Given the description of an element on the screen output the (x, y) to click on. 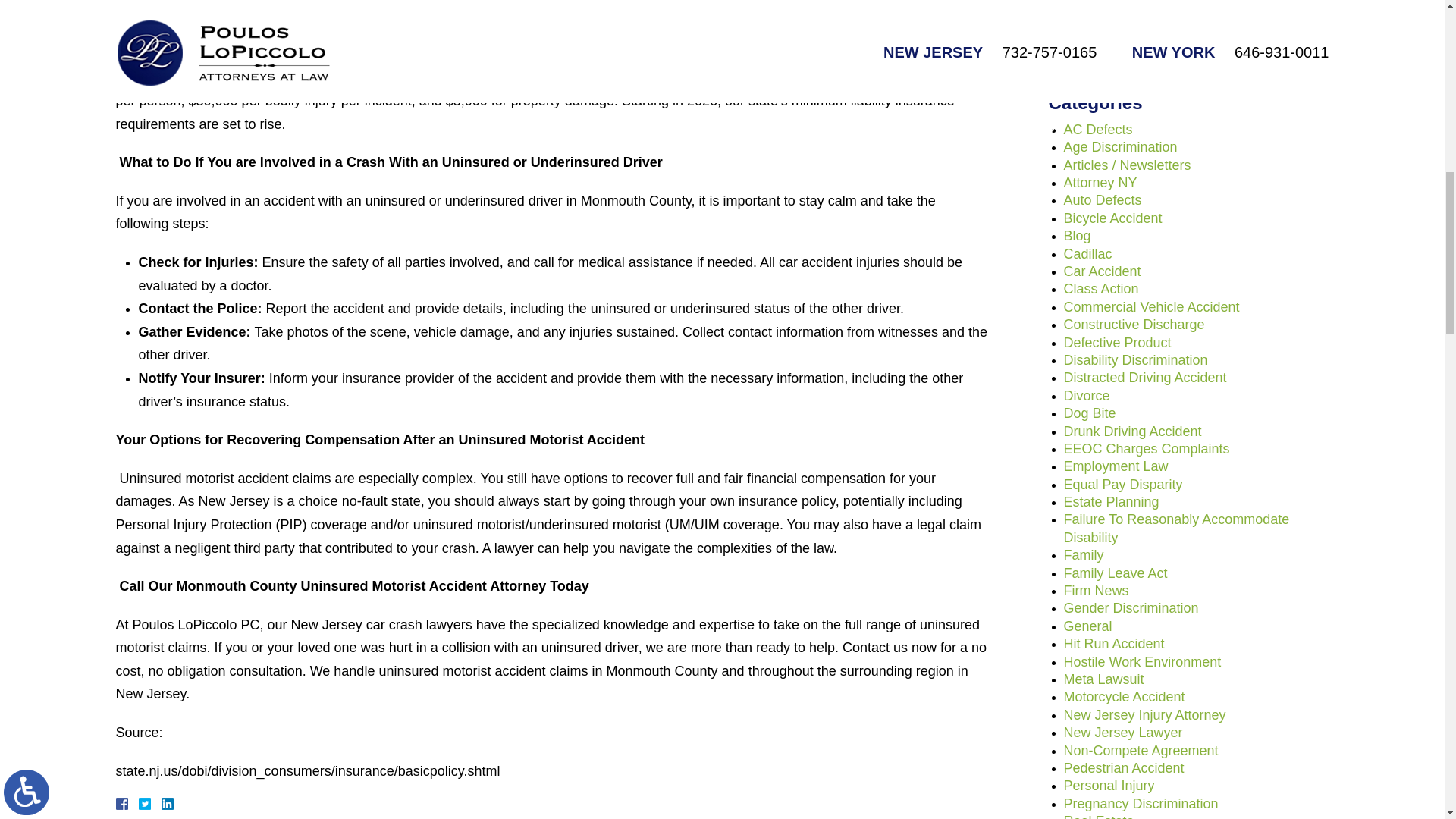
Facebook (139, 803)
Twitter (149, 803)
LinkedIn (160, 803)
AfterCarAcc4 (190, 14)
